Given the description of an element on the screen output the (x, y) to click on. 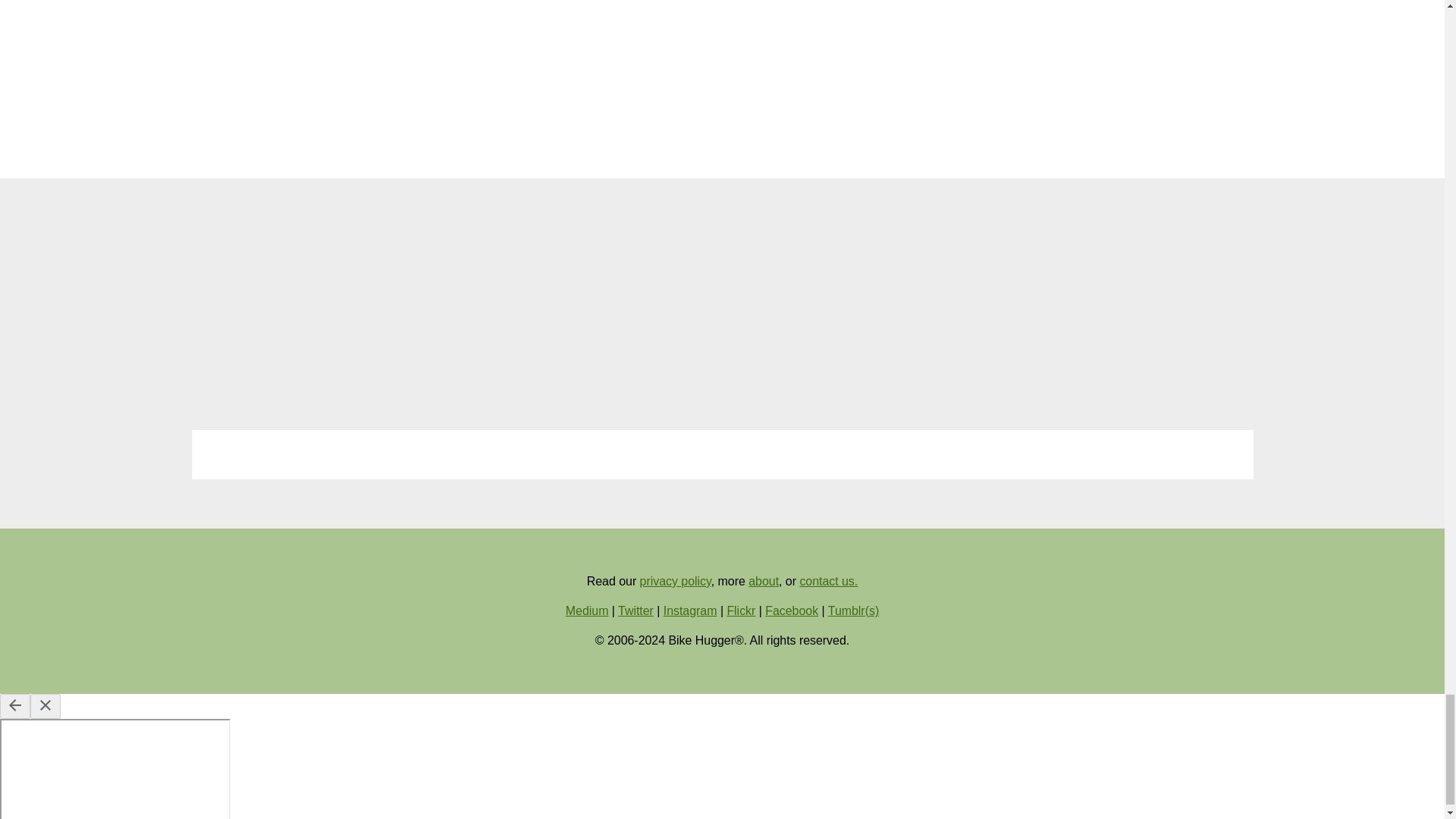
contact us. (828, 581)
Twitter (635, 610)
Instagram (690, 610)
Flickr (740, 610)
Facebook (791, 610)
about (763, 581)
privacy policy (675, 581)
Medium (587, 610)
